Given the description of an element on the screen output the (x, y) to click on. 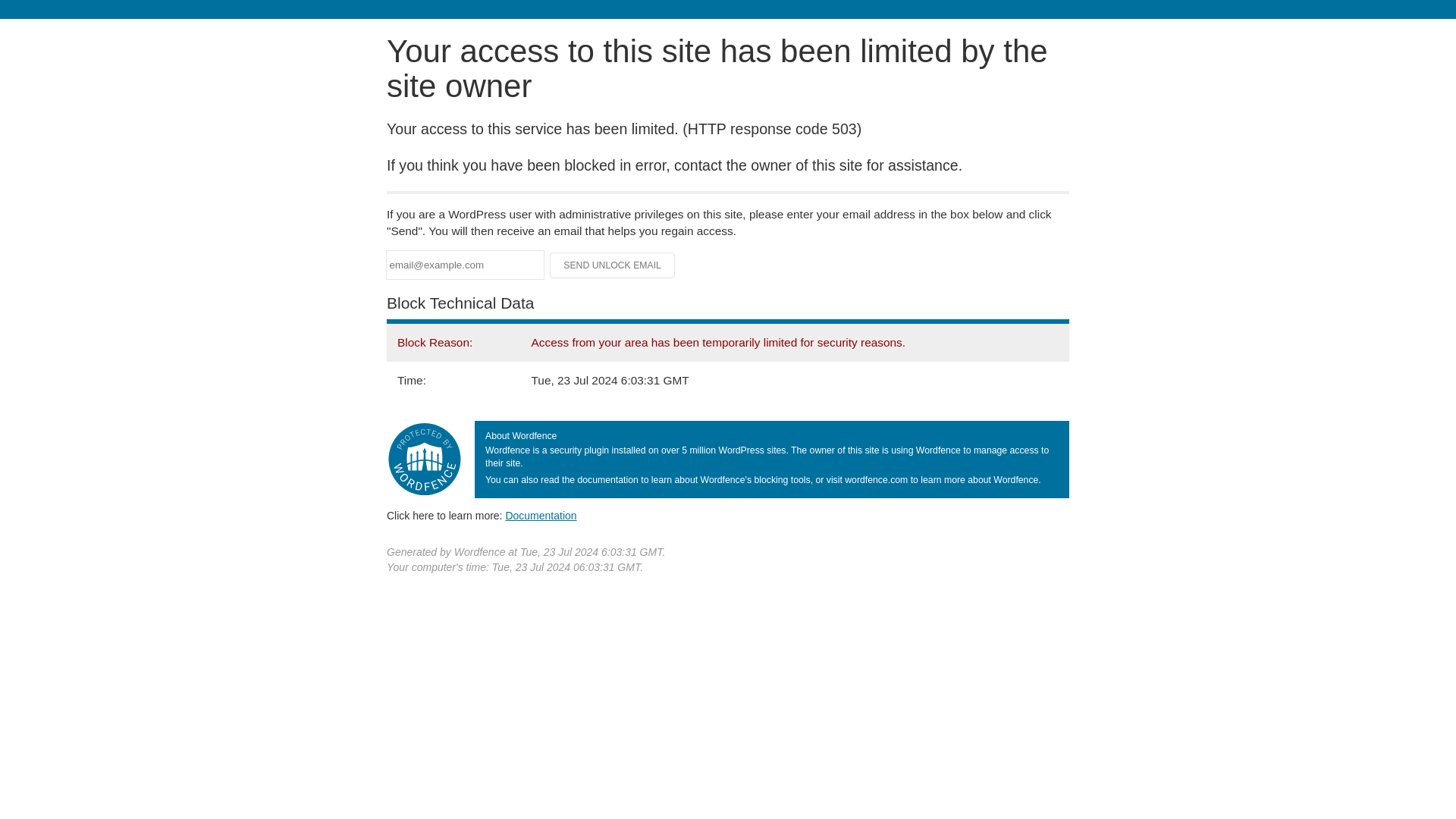
Documentation (540, 515)
Send Unlock Email (612, 265)
Send Unlock Email (612, 265)
